Given the description of an element on the screen output the (x, y) to click on. 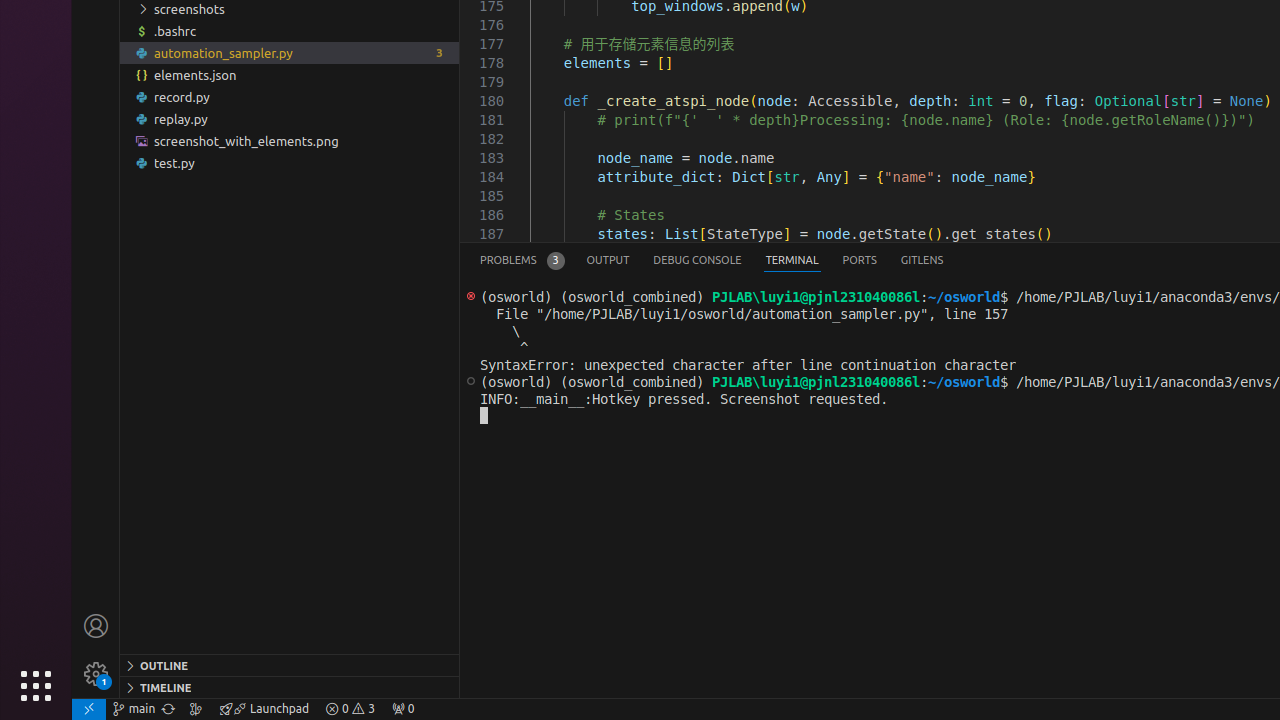
Active View Switcher Element type: page-tab-list (712, 260)
screenshot_with_elements.png Element type: tree-item (289, 141)
.bashrc Element type: tree-item (289, 31)
No Ports Forwarded Element type: push-button (403, 709)
Accounts Element type: push-button (96, 626)
